Given the description of an element on the screen output the (x, y) to click on. 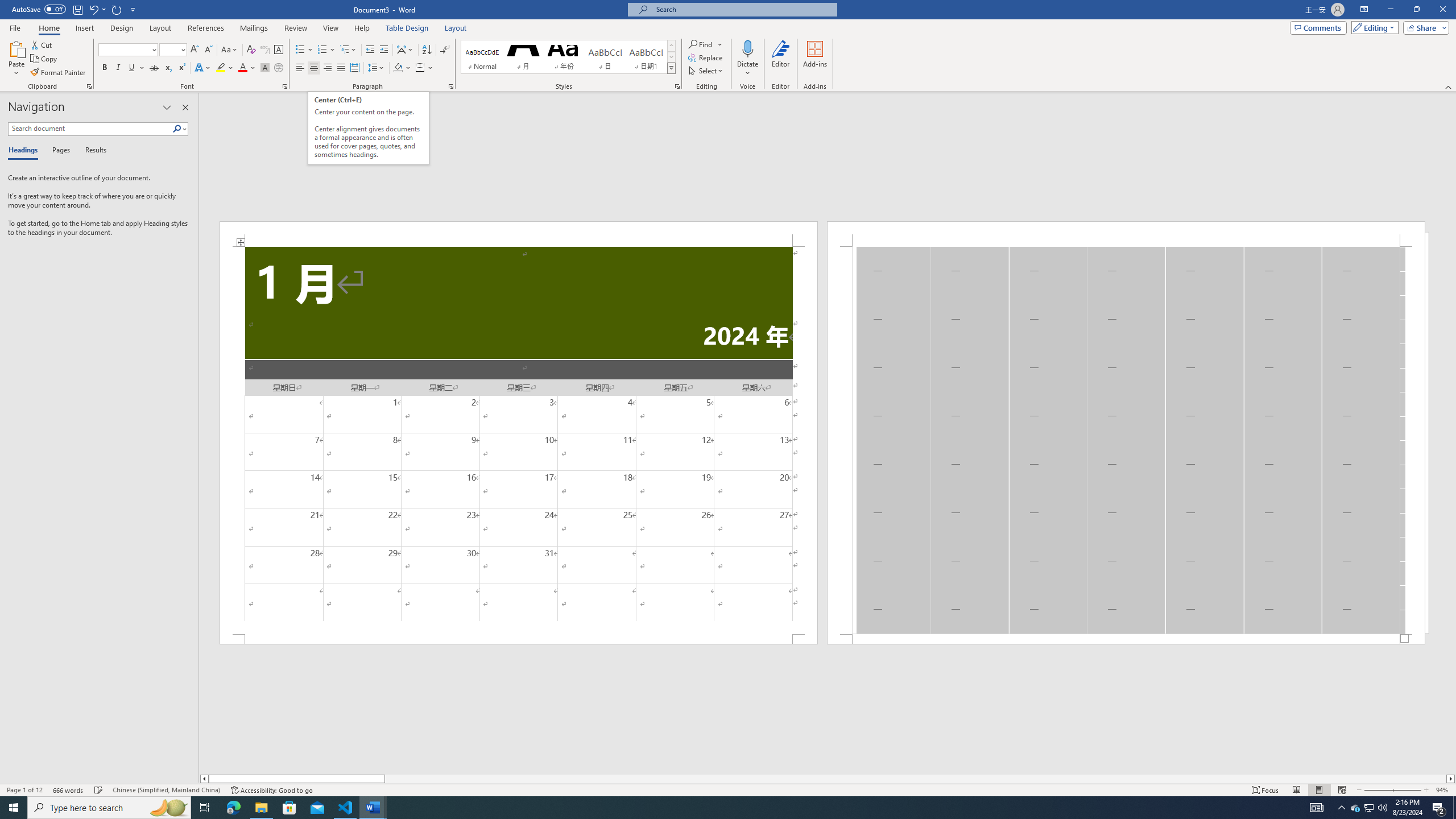
Change Case (229, 49)
Column left (203, 778)
Bold (104, 67)
Justify (340, 67)
Office Clipboard... (88, 85)
Language Chinese (Simplified, Mainland China) (165, 790)
Decrease Indent (370, 49)
